Given the description of an element on the screen output the (x, y) to click on. 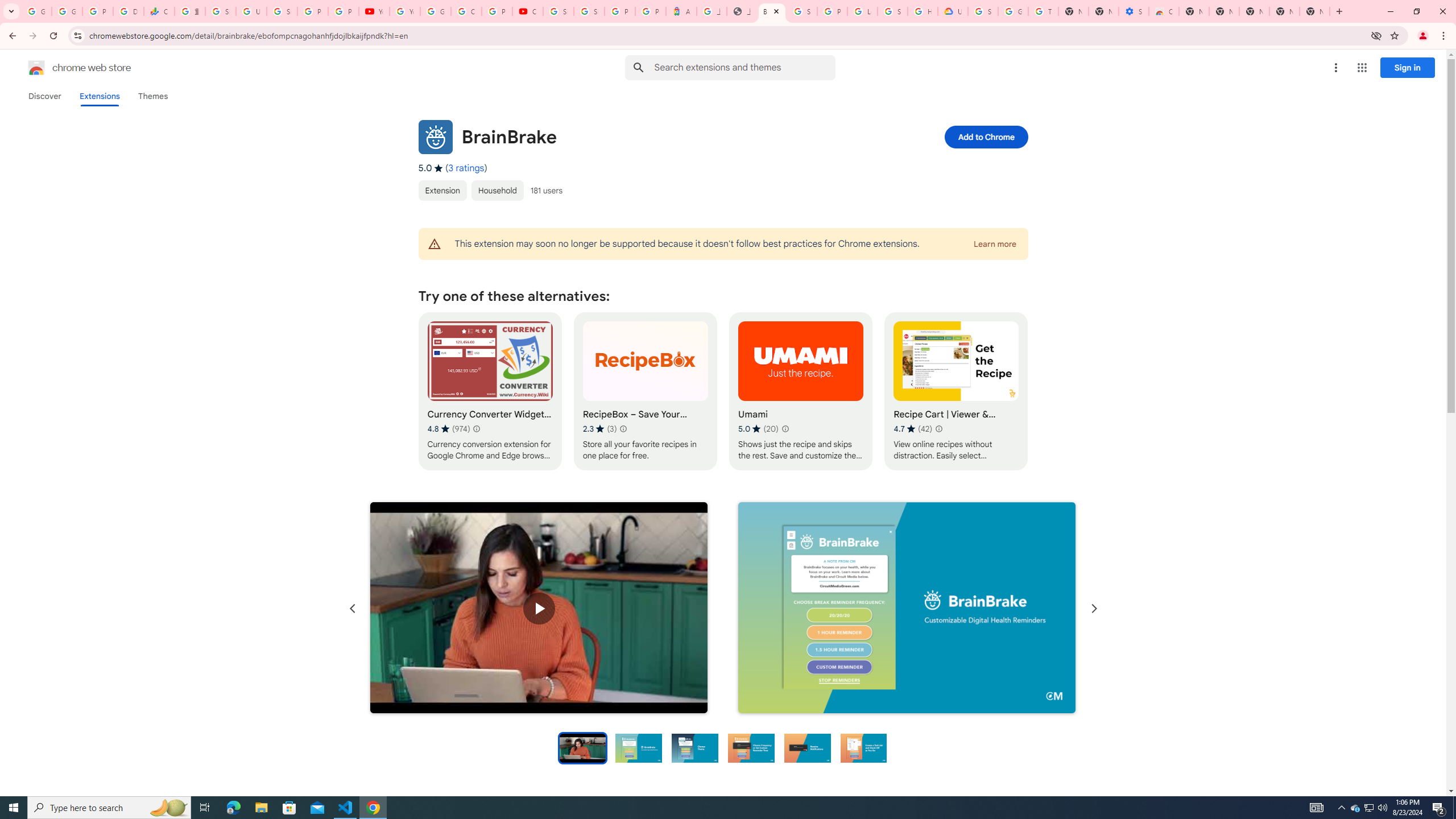
Content Creator Programs & Opportunities - YouTube Creators (527, 11)
Household (497, 190)
Atour Hotel - Google hotels (681, 11)
Preview slide 3 (694, 747)
Currencies - Google Finance (158, 11)
Recipe Cart | Viewer & Grocery Assistant (955, 391)
Preview slide 6 (863, 747)
BrainBrake - Chrome Web Store (771, 11)
Average rating 5 out of 5 stars. 20 ratings. (758, 428)
Previous slide (352, 608)
